Given the description of an element on the screen output the (x, y) to click on. 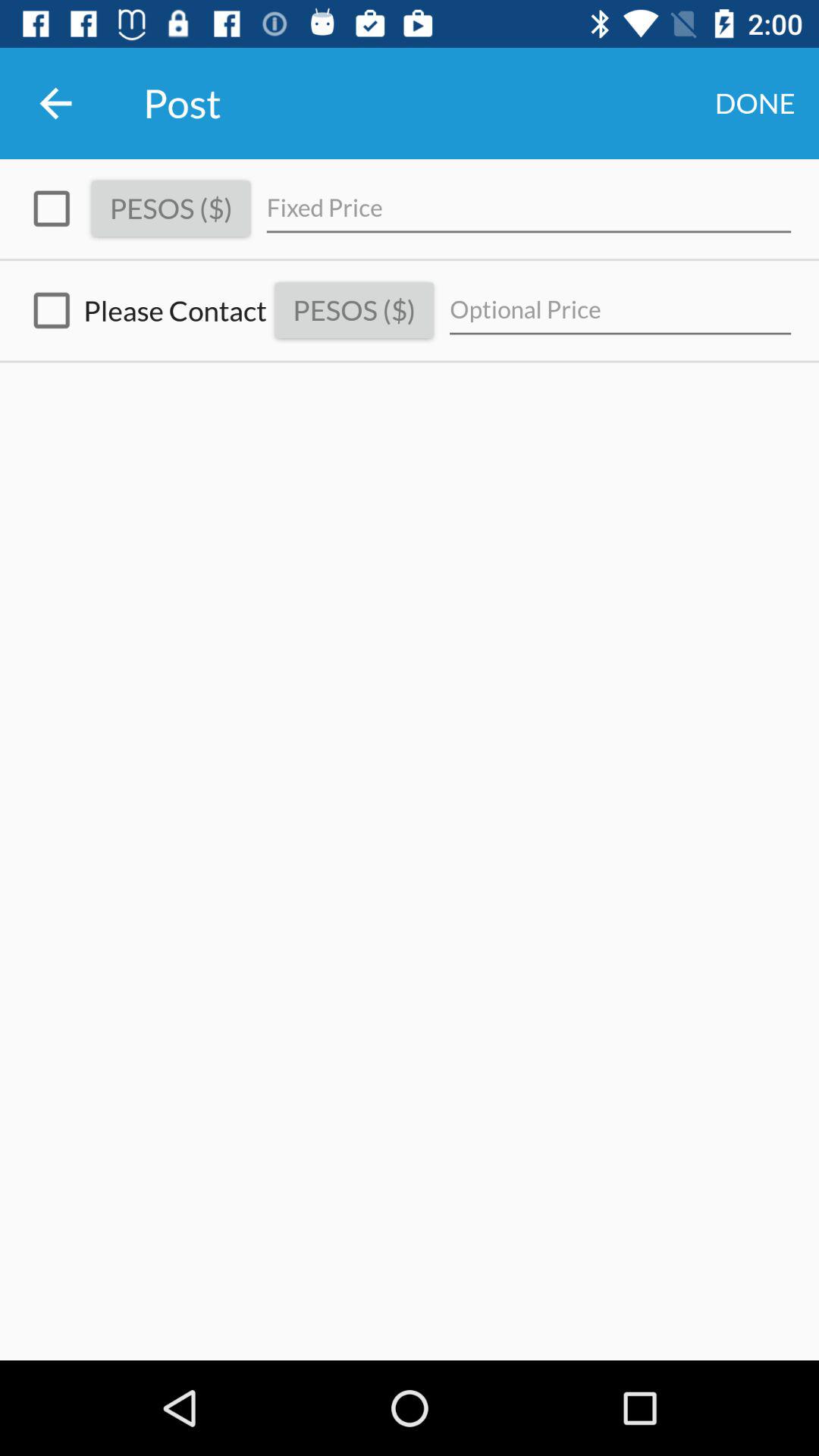
scroll until the please contact (142, 310)
